Given the description of an element on the screen output the (x, y) to click on. 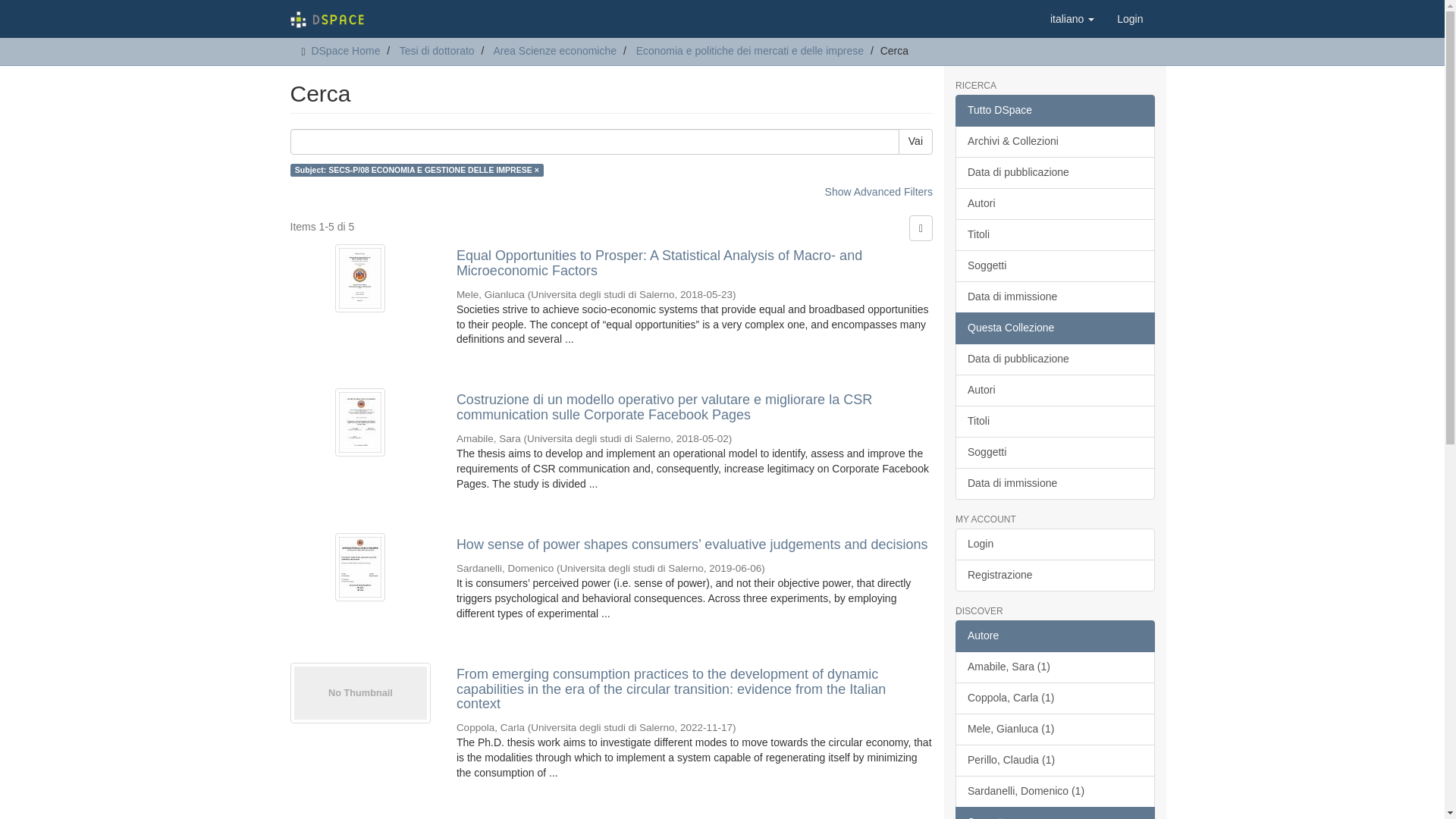
Login (1129, 18)
italiano  (1072, 18)
DSpace Home (345, 50)
Area Scienze economiche (554, 50)
Economia e politiche dei mercati e delle imprese (749, 50)
Vai (915, 141)
Tesi di dottorato (436, 50)
Show Advanced Filters (879, 191)
